Given the description of an element on the screen output the (x, y) to click on. 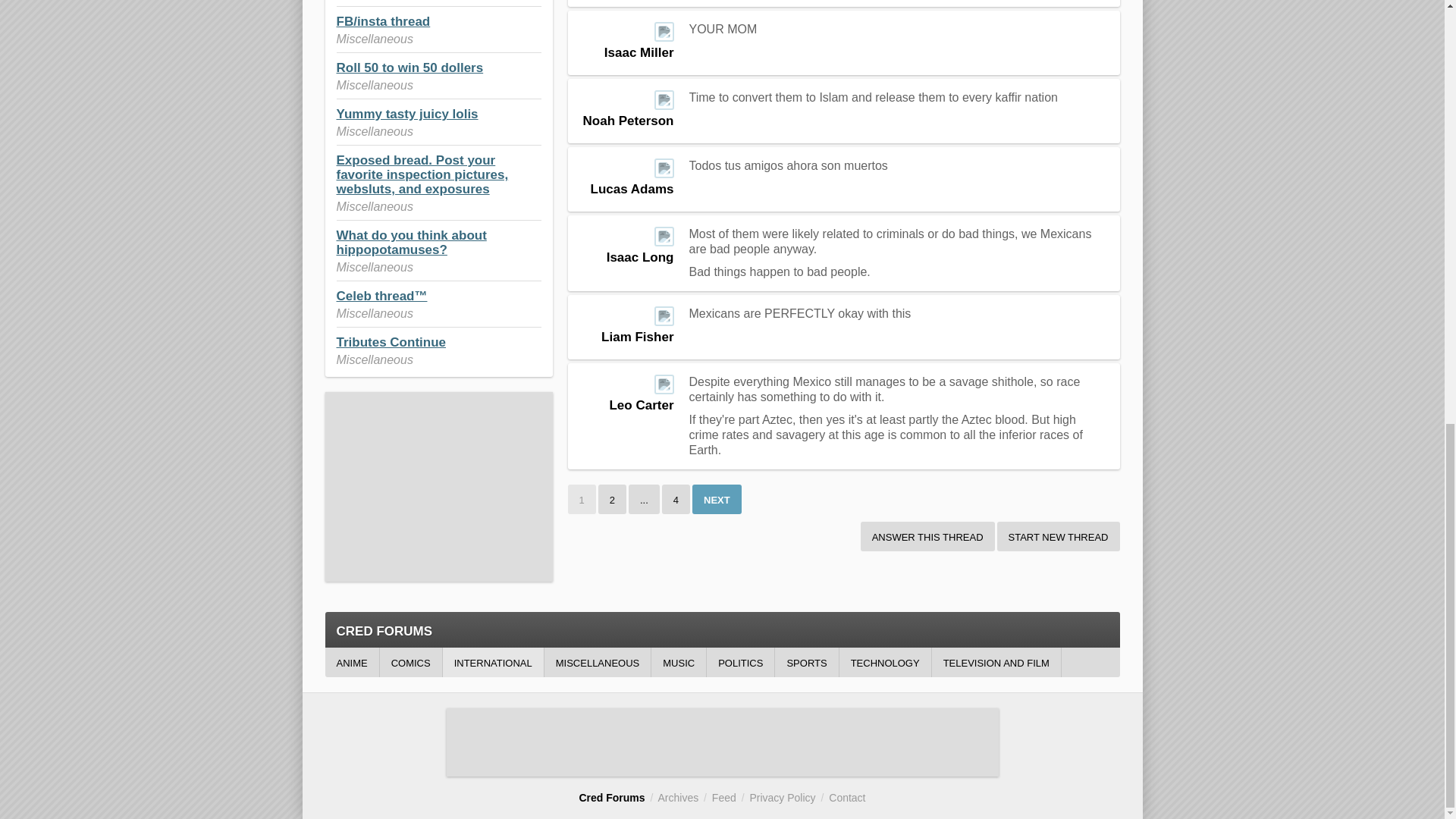
Yummy tasty juicy lolis (407, 114)
2 (612, 499)
START NEW THREAD (1058, 536)
NEXT (717, 499)
What do you think about hippopotamuses? (411, 242)
Roll 50 to win 50 dollers (409, 67)
ANSWER THIS THREAD (927, 536)
... (643, 499)
4 (676, 499)
